Given the description of an element on the screen output the (x, y) to click on. 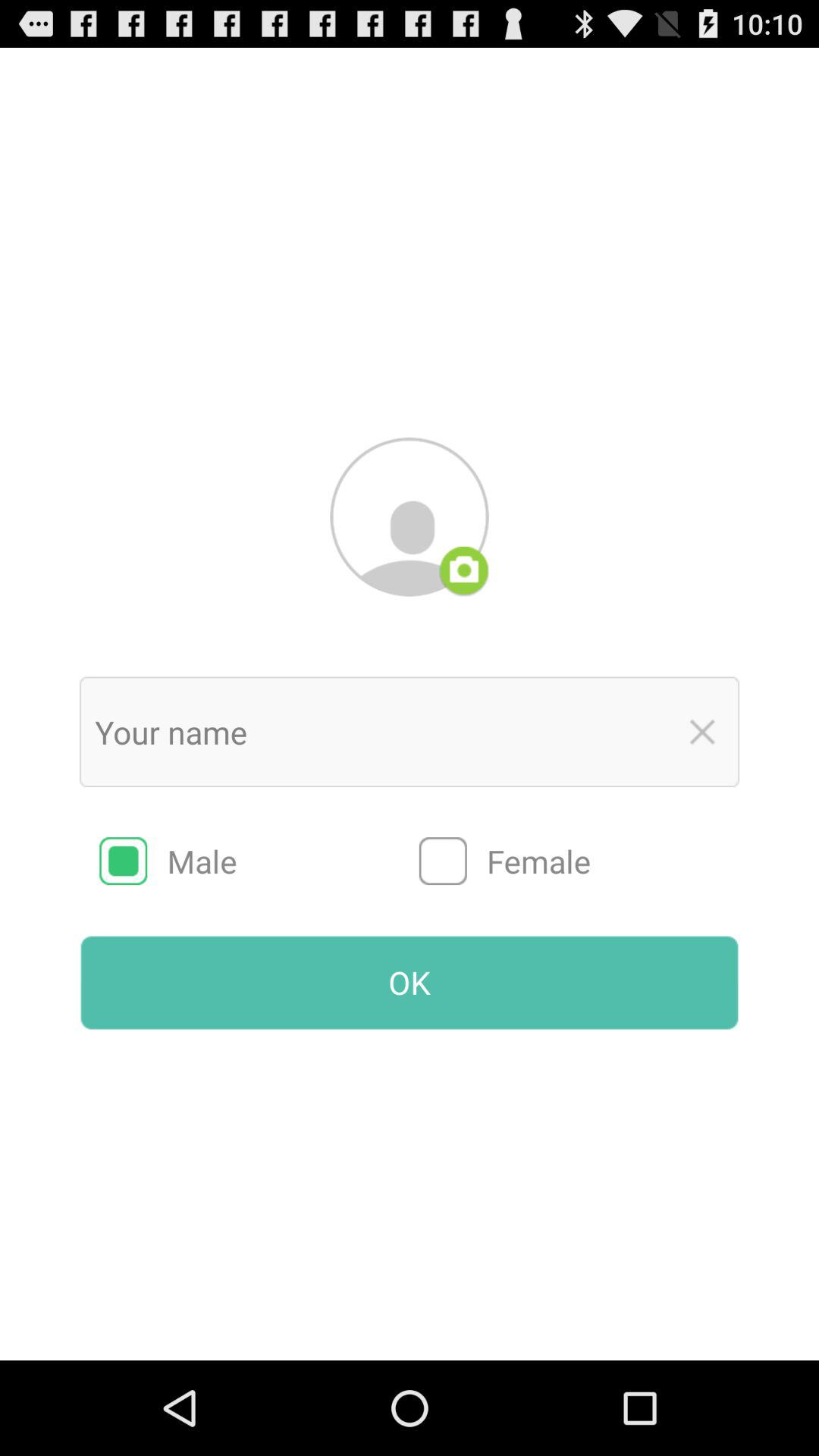
tap male icon (259, 860)
